Given the description of an element on the screen output the (x, y) to click on. 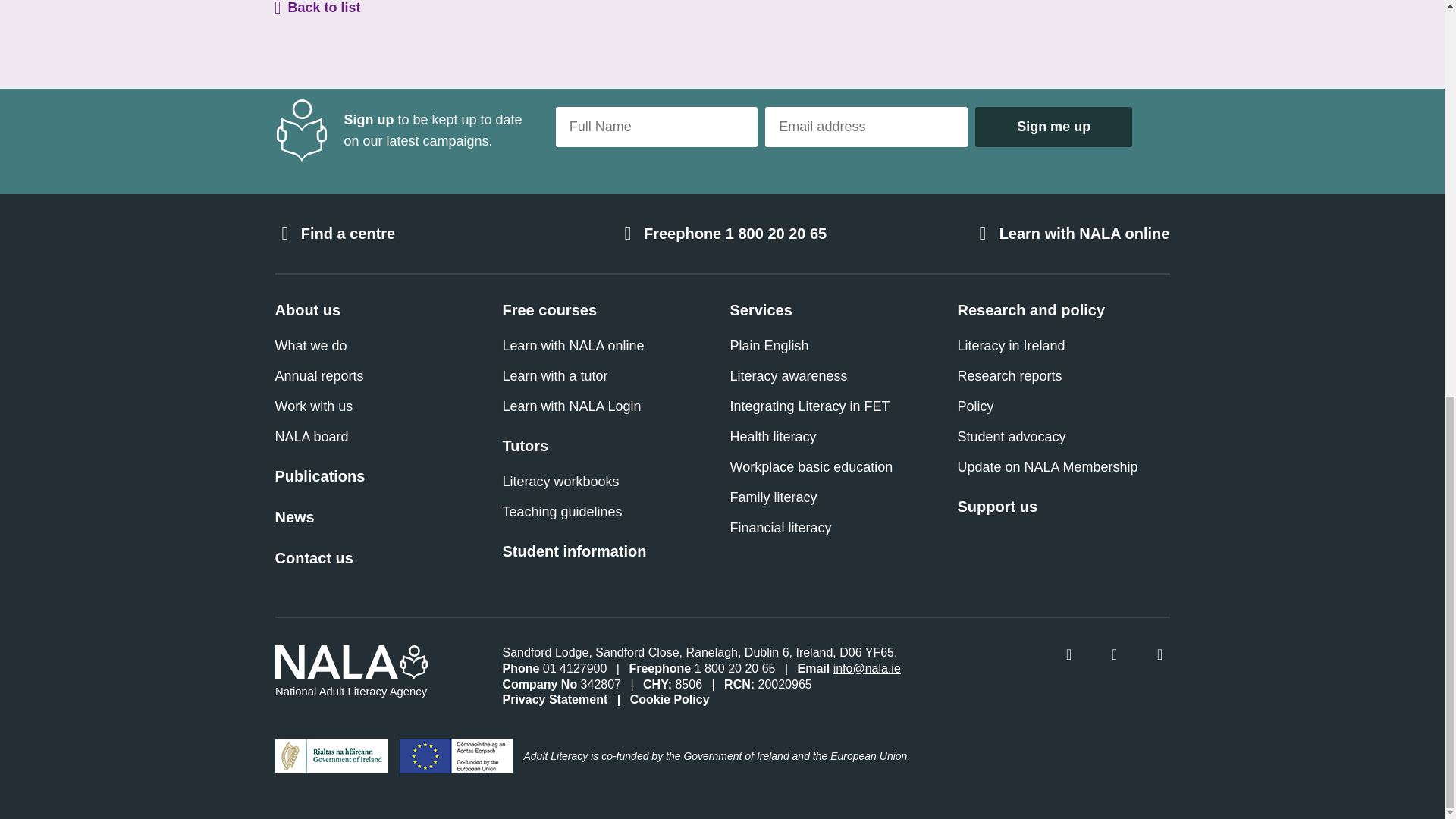
Sign me up (1053, 127)
